Given the description of an element on the screen output the (x, y) to click on. 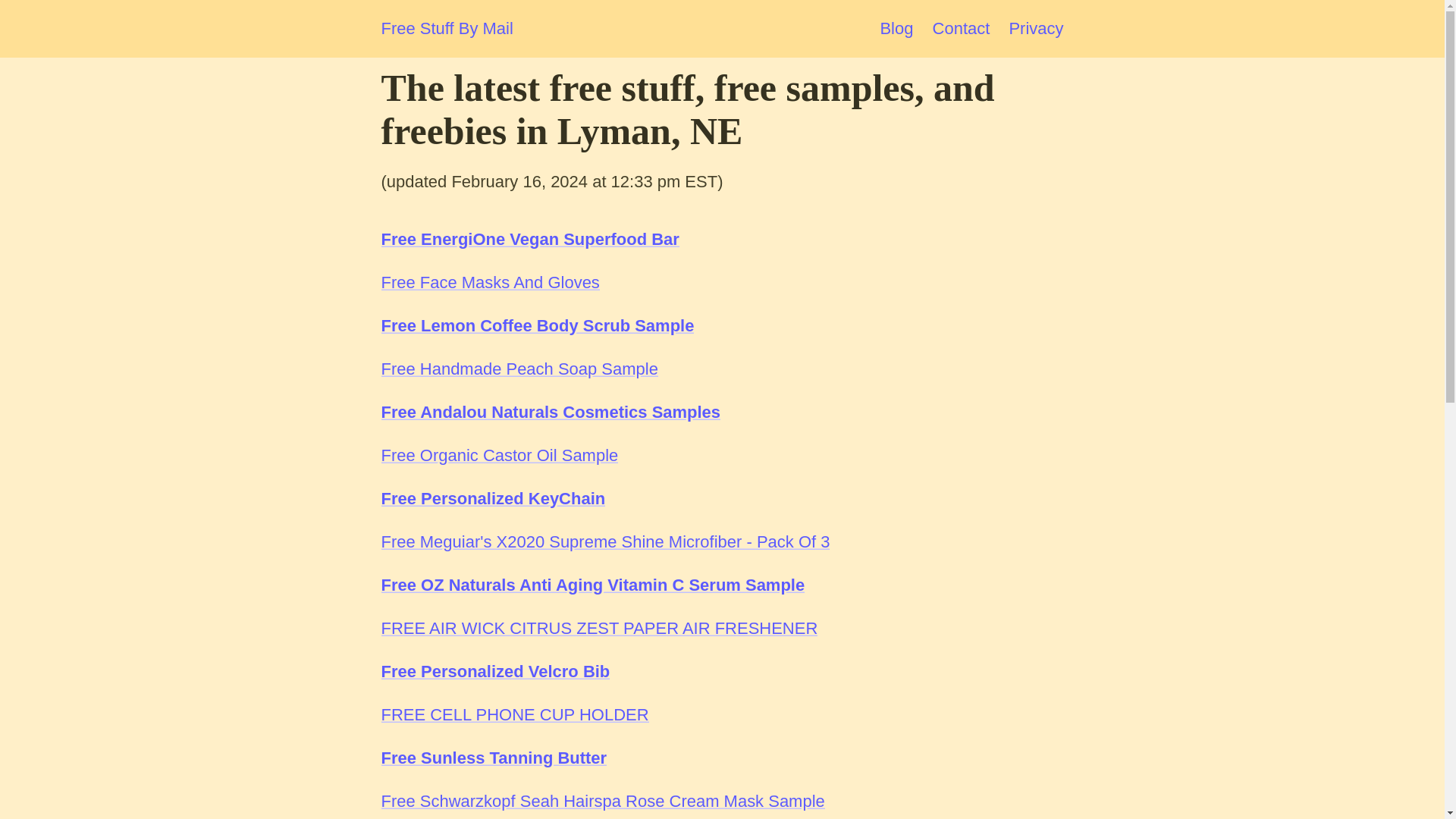
Contact (961, 27)
Free Lemon Coffee Body Scrub Sample (537, 325)
Free Handmade Peach Soap Sample (519, 368)
Free Andalou Naturals Cosmetics Samples (550, 411)
Free Meguiar's X2020 Supreme Shine Microfiber - Pack Of 3 (604, 541)
FREE CELL PHONE CUP HOLDER (513, 714)
Free Personalized Velcro Bib (495, 670)
Privacy (1035, 27)
Free Schwarzkopf Seah Hairspa Rose Cream Mask Sample (602, 800)
Free EnergiOne Vegan Superfood Bar (529, 239)
Blog (895, 27)
Free OZ Naturals Anti Aging Vitamin C Serum Sample (592, 584)
Free Personalized KeyChain (492, 497)
FREE AIR WICK CITRUS ZEST PAPER AIR FRESHENER (598, 628)
Free Sunless Tanning Butter (493, 757)
